Given the description of an element on the screen output the (x, y) to click on. 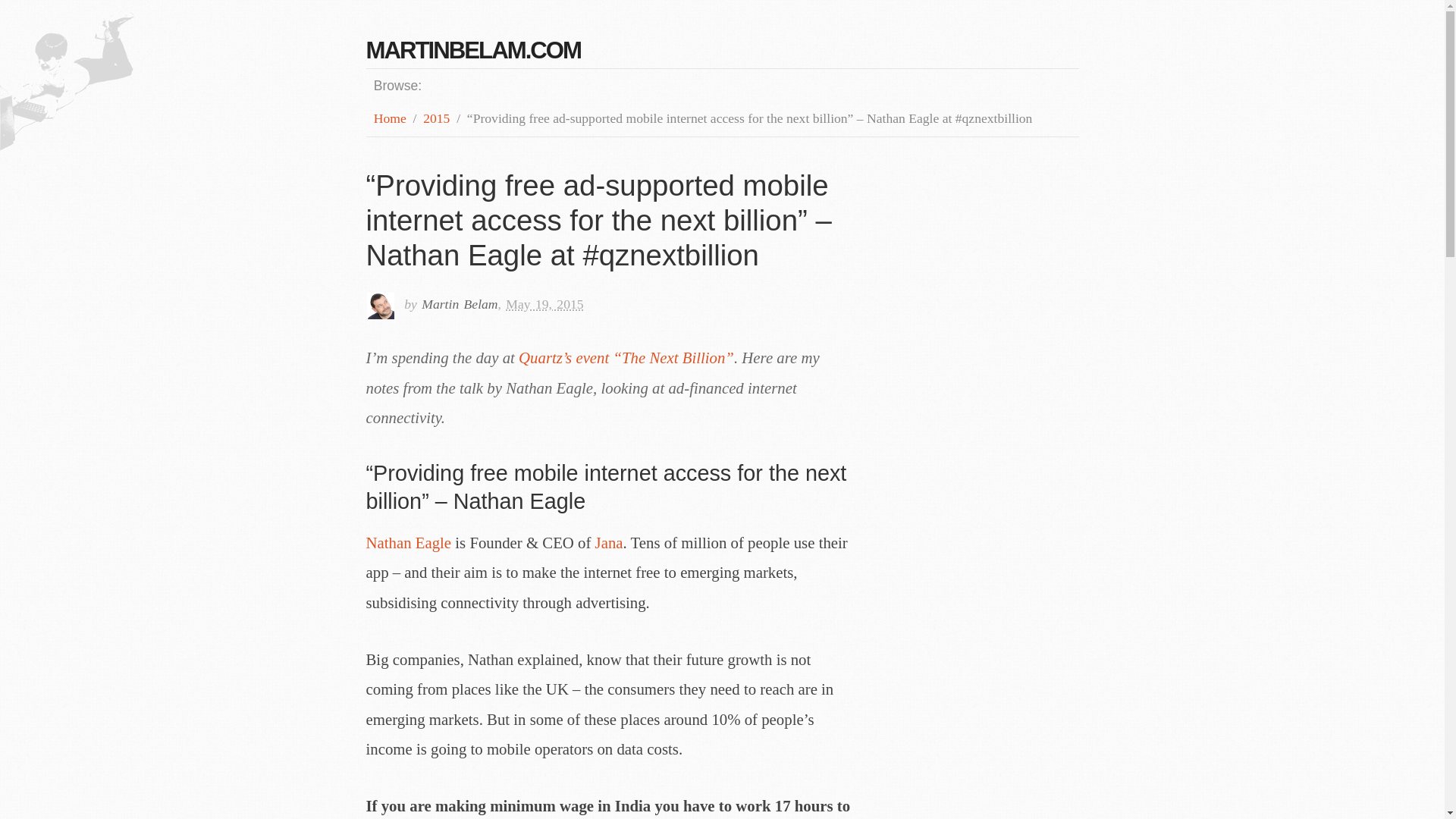
Home (390, 118)
Martin Belam (459, 304)
Jana (609, 542)
MARTINBELAM.COM (472, 49)
Tuesday, May 19th, 2015, 10:21 am (544, 304)
martinbelam.com (472, 49)
Nathan Eagle (408, 542)
2015 (436, 118)
